Given the description of an element on the screen output the (x, y) to click on. 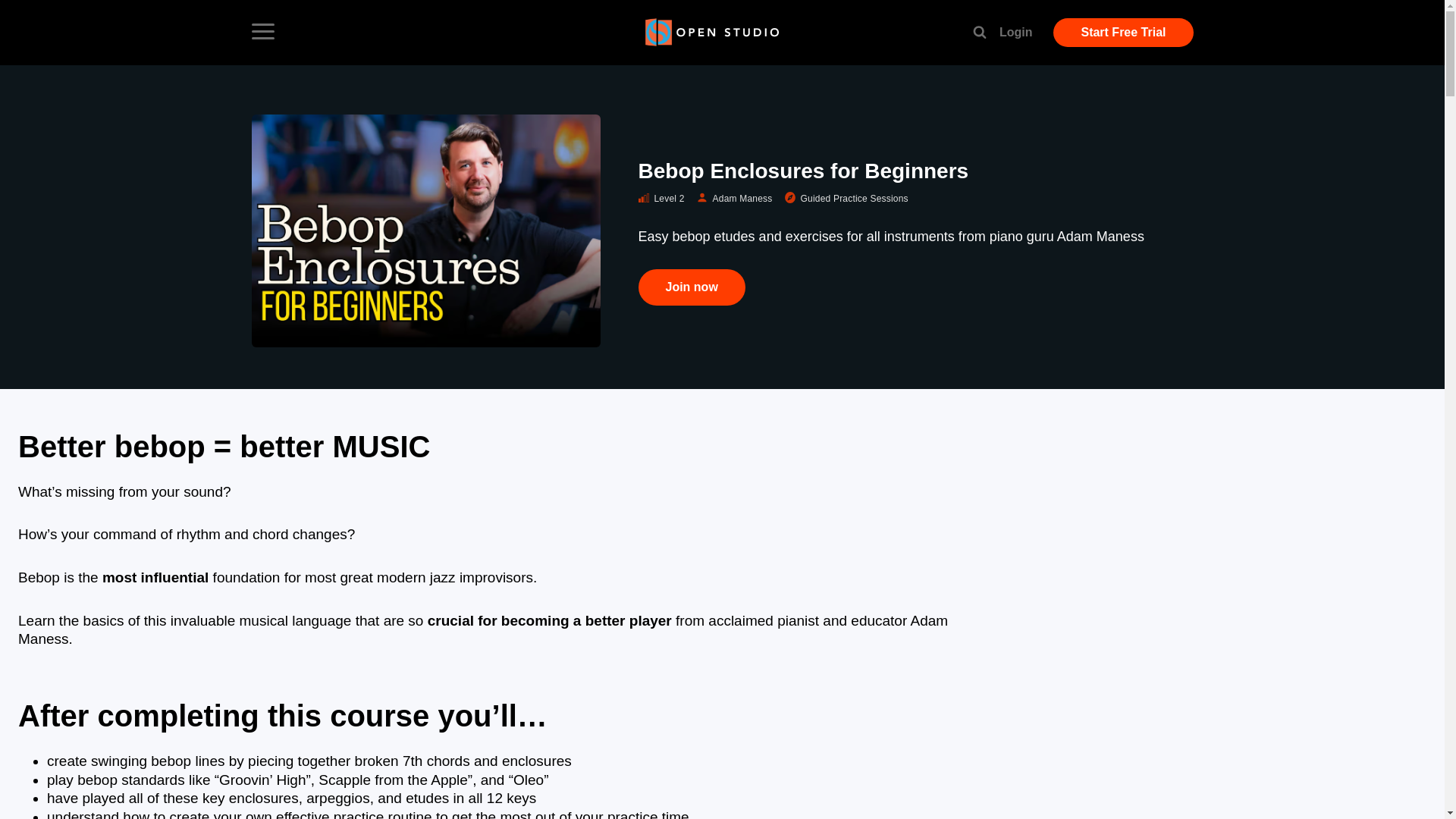
Start Free Trial (1122, 32)
Login (1015, 31)
Level 2 (664, 199)
Adam Maness (737, 199)
Guided Practice Sessions (849, 199)
Join now (692, 287)
